Given the description of an element on the screen output the (x, y) to click on. 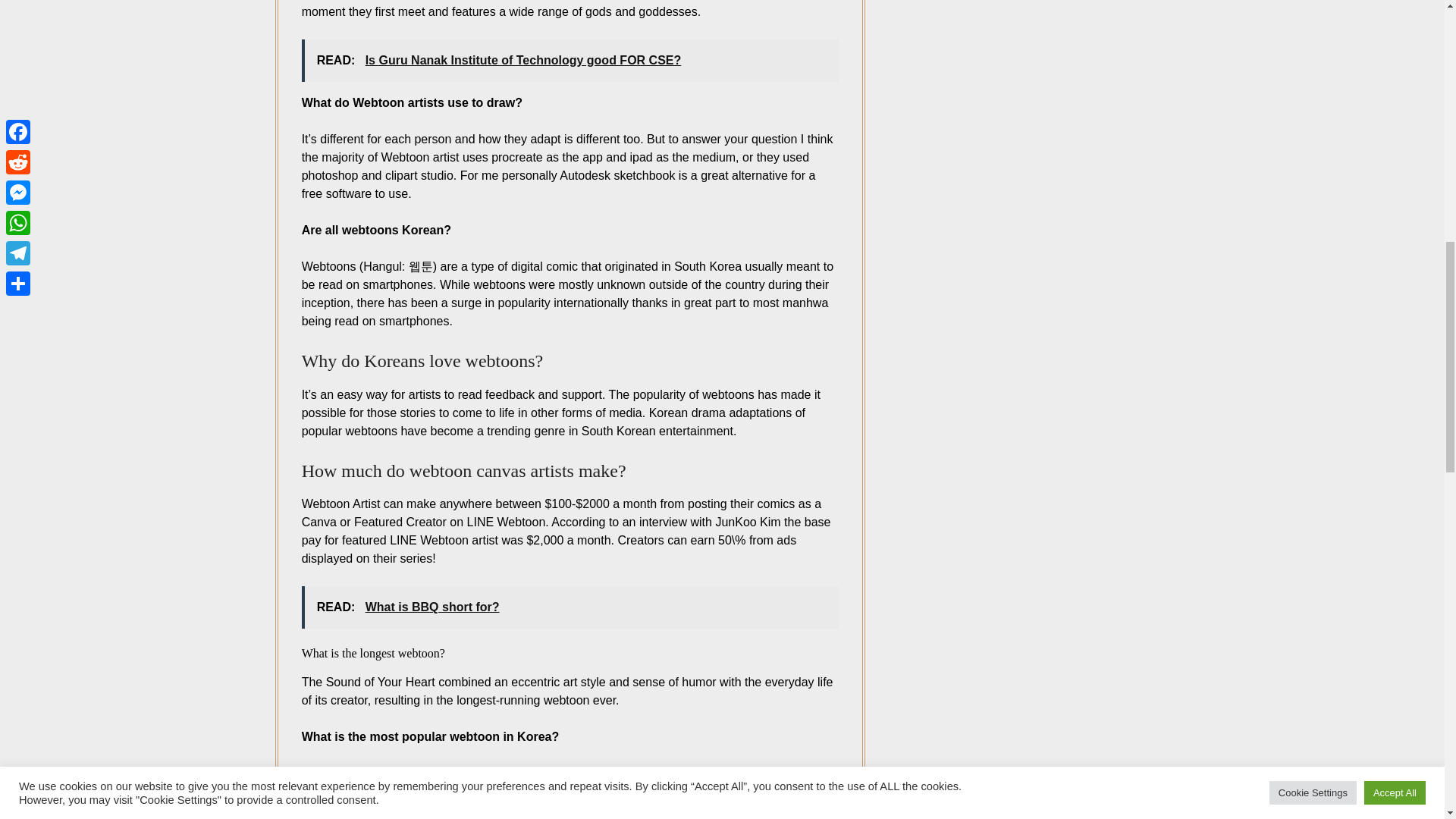
READ:   What is BBQ short for? (570, 607)
READ:   Is Guru Nanak Institute of Technology good FOR CSE? (570, 60)
